Given the description of an element on the screen output the (x, y) to click on. 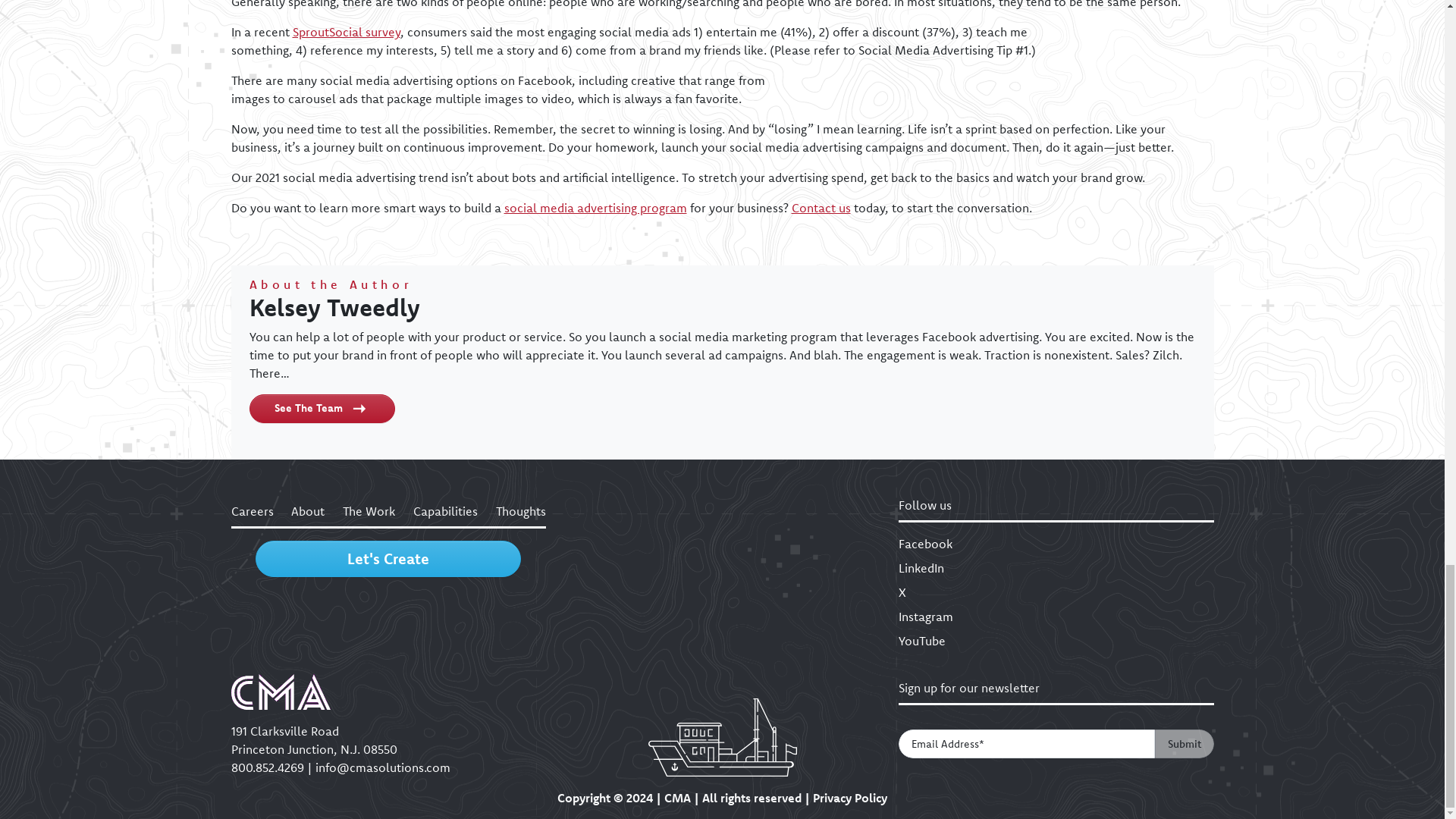
Contact us (821, 207)
Instagram (1056, 616)
Capabilities (445, 511)
X (1056, 592)
SproutSocial survey (346, 31)
Careers (251, 511)
Facebook (1056, 543)
social media advertising program (594, 207)
LinkedIn (1056, 567)
Submit (1183, 743)
The Work (368, 511)
See The Team (321, 408)
About (307, 511)
YouTube (1056, 640)
